Given the description of an element on the screen output the (x, y) to click on. 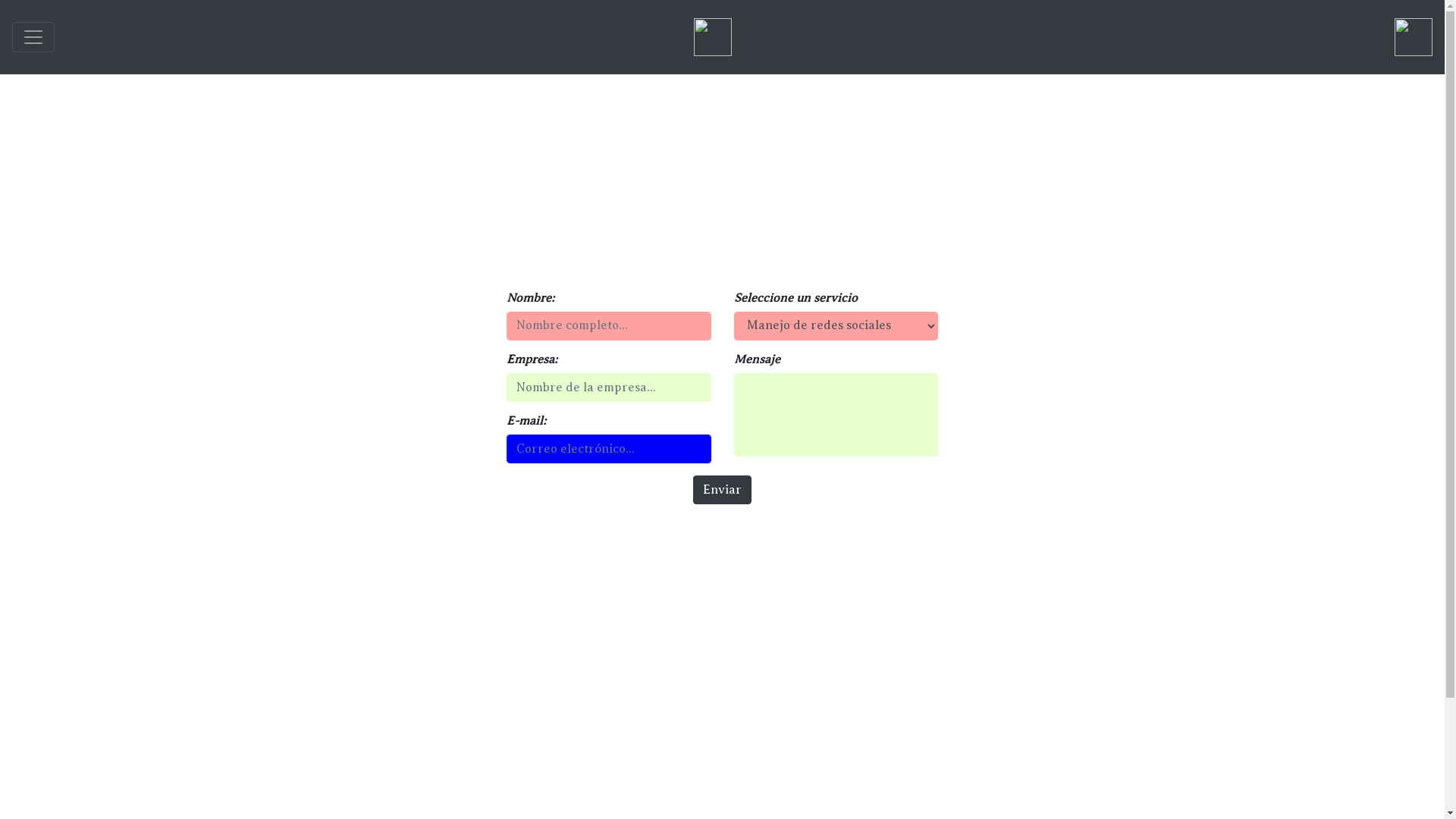
Enviar Element type: text (722, 489)
